Given the description of an element on the screen output the (x, y) to click on. 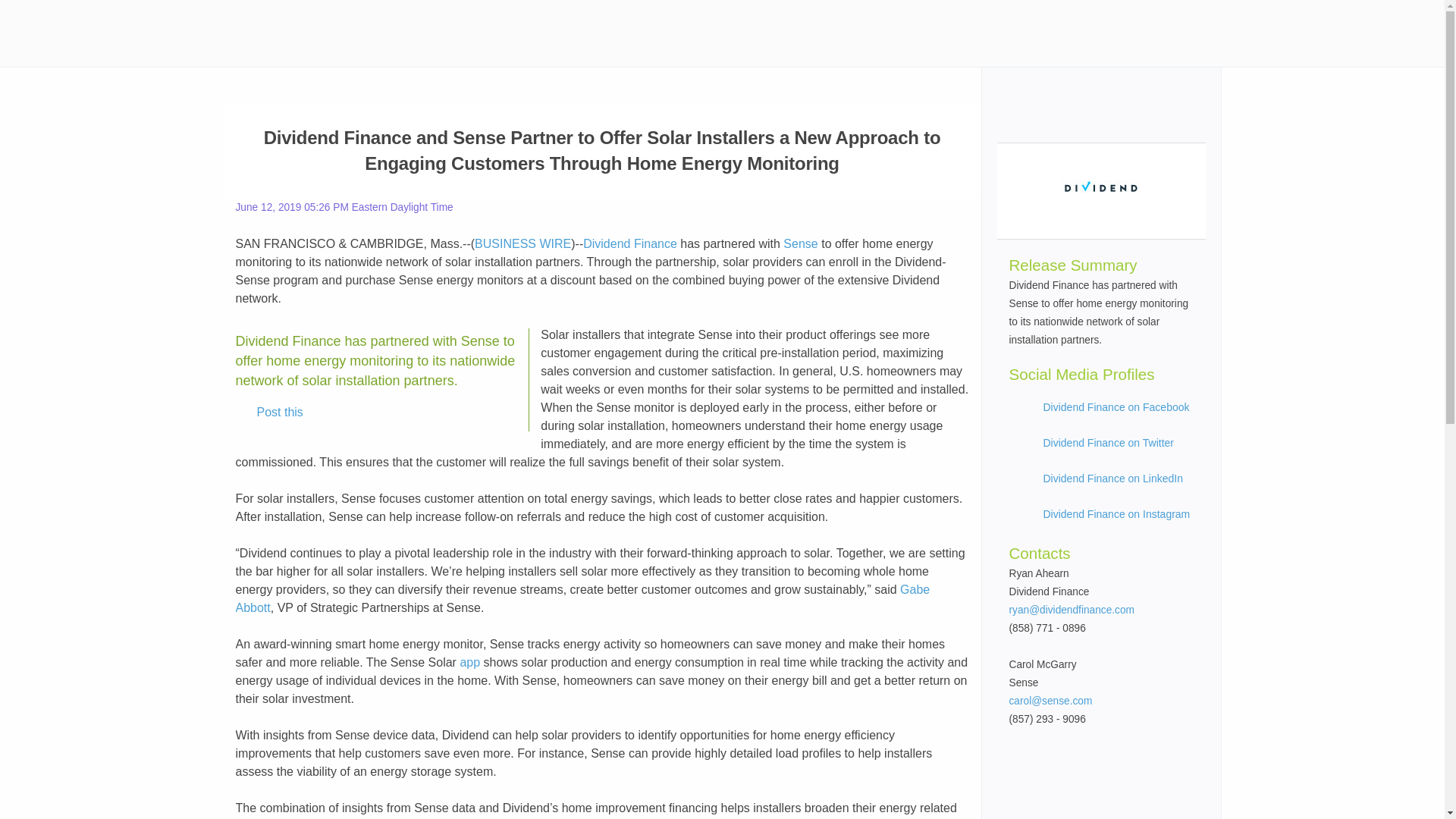
Post this (269, 412)
BUSINESS WIRE (522, 243)
Dividend Finance (630, 243)
Dividend Finance on Instagram (1117, 513)
Gabe Abbott (582, 598)
app (470, 662)
Dividend Finance on Twitter (1108, 442)
Dividend Finance on Facebook (1116, 407)
Sense (799, 243)
Dividend Finance on LinkedIn (1112, 478)
